Given the description of an element on the screen output the (x, y) to click on. 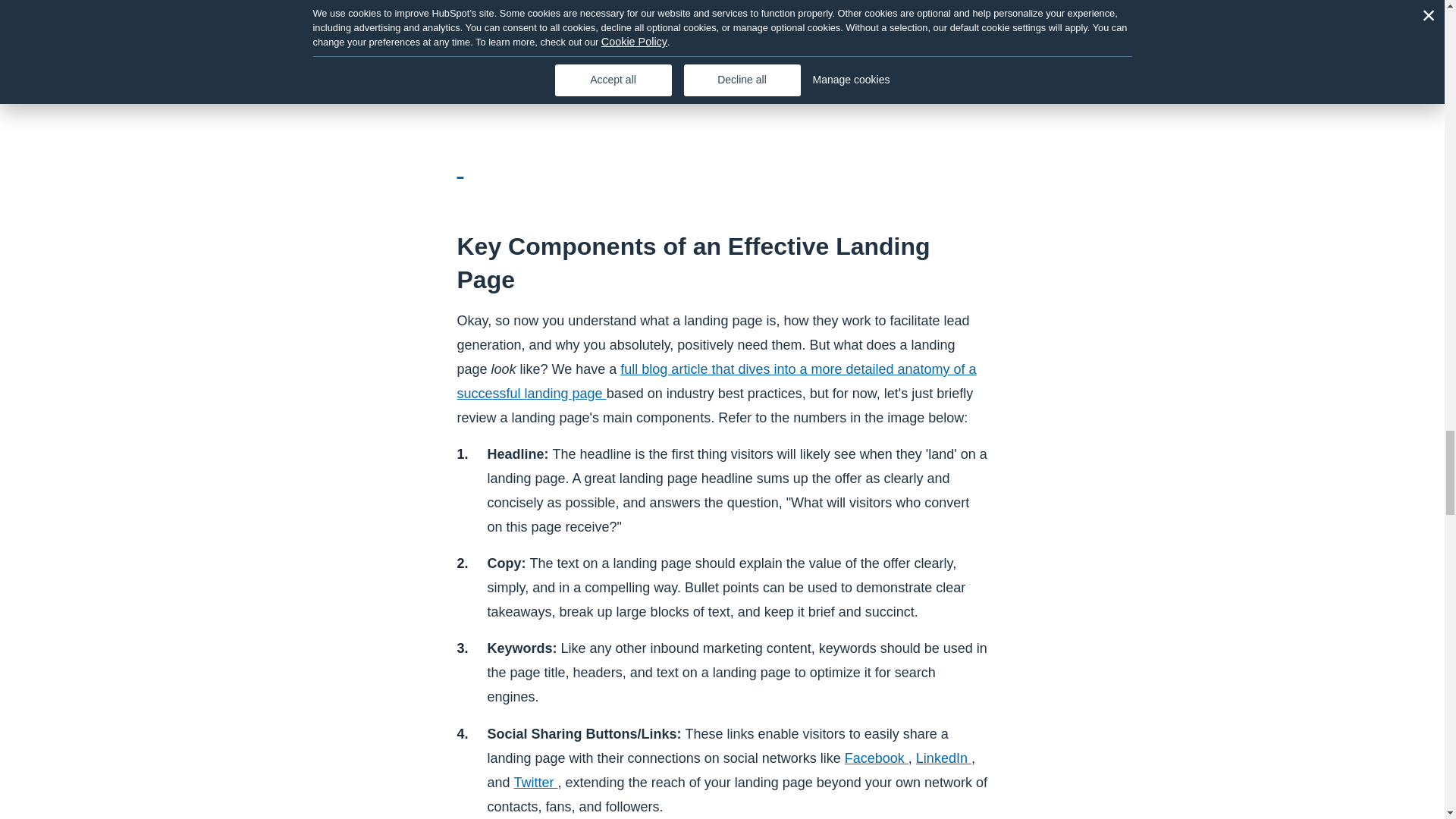
LinkedIn (943, 758)
Facebook (876, 758)
Twitter (535, 782)
